Given the description of an element on the screen output the (x, y) to click on. 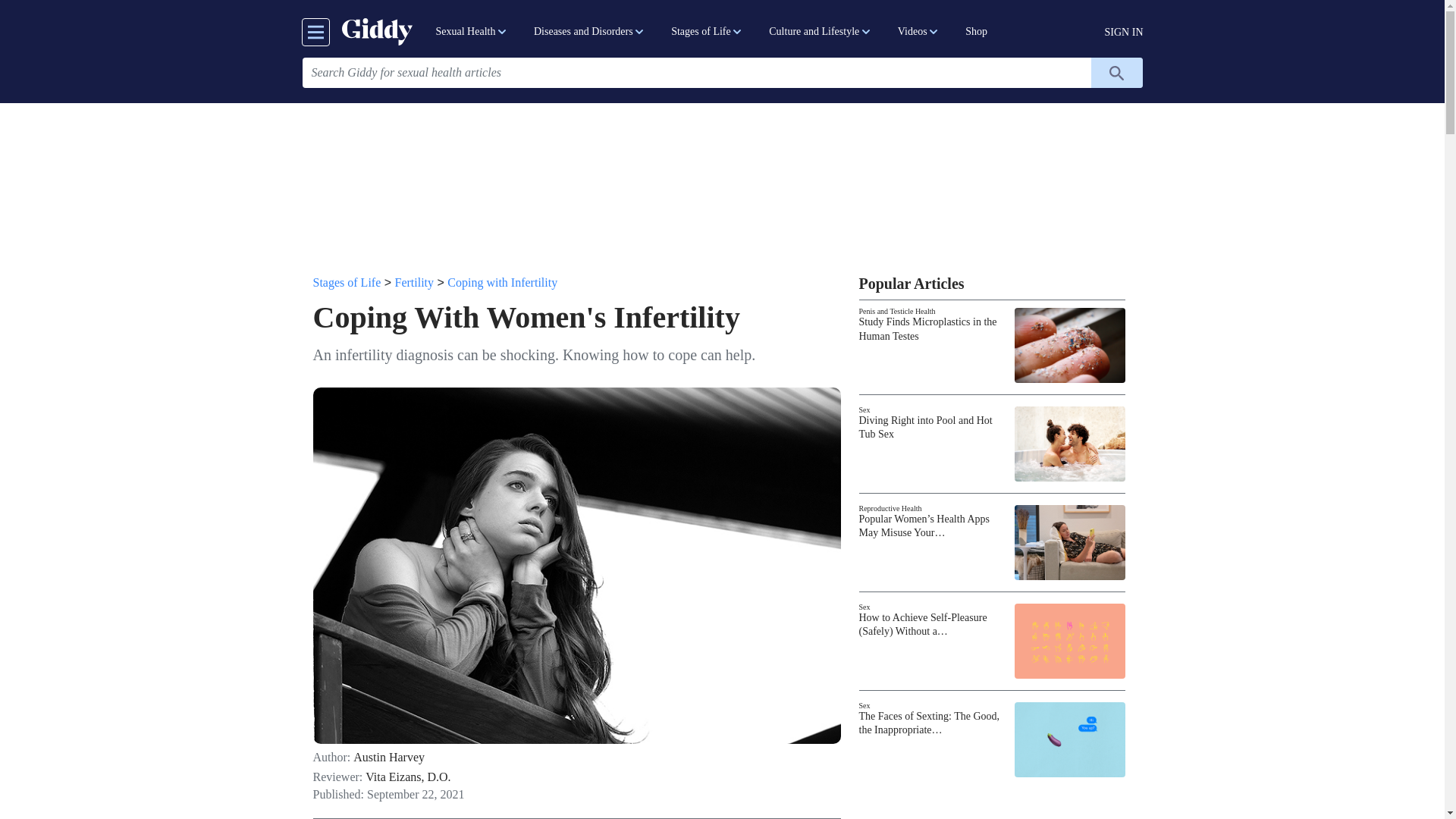
My Account (1123, 31)
Home (376, 31)
Sexual Health (472, 31)
